Given the description of an element on the screen output the (x, y) to click on. 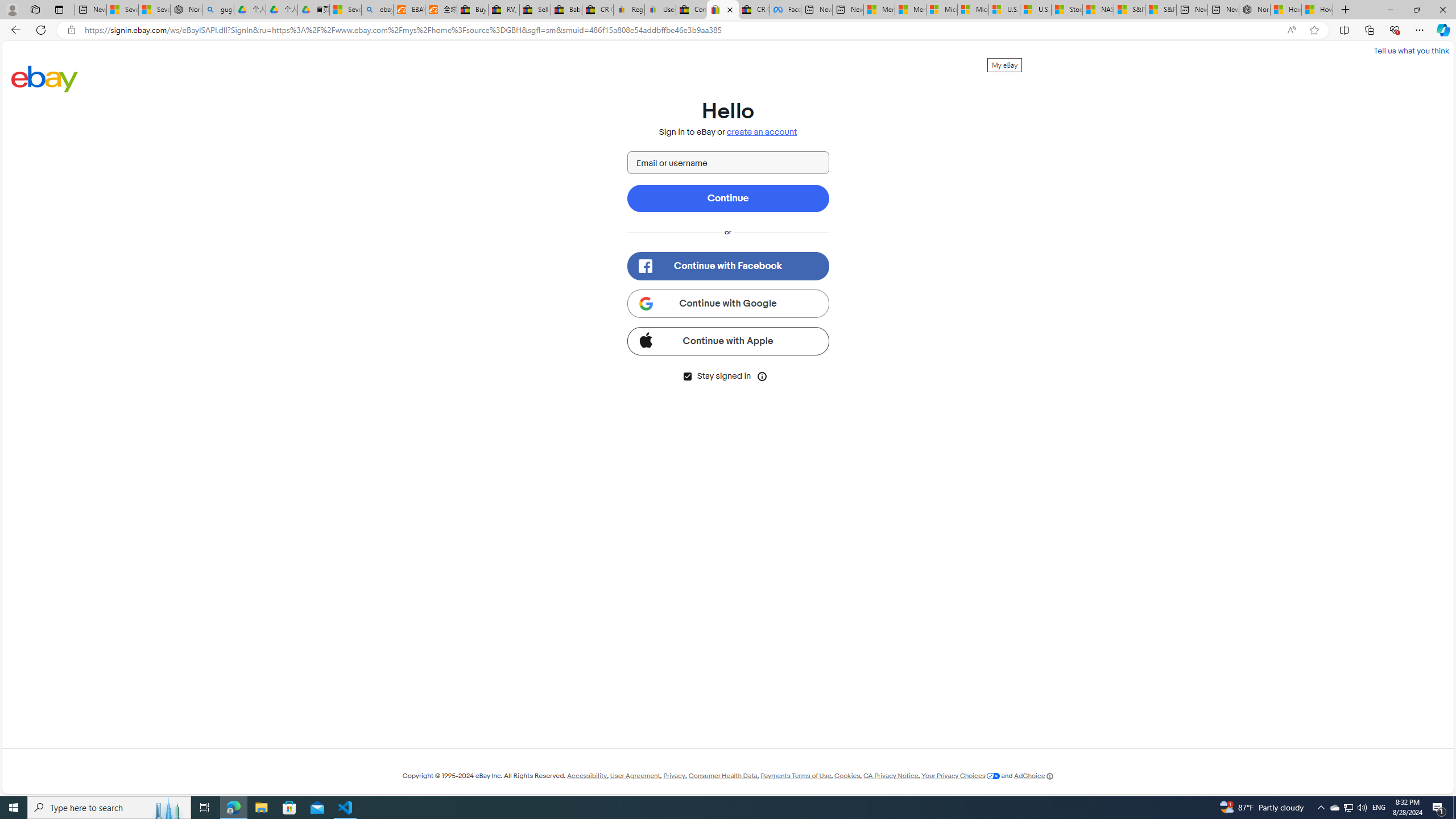
Register: Create a personal eBay account (628, 9)
Continue with Facebook (727, 266)
Accessibility (586, 775)
Consumer Health Data Privacy Policy - eBay Inc. (691, 9)
Continue with Google (727, 303)
Class: fb-icon (644, 265)
Class: icon-btn tooltip__host icon-btn--transparent (762, 375)
Continue with Apple (727, 340)
Stay signed in (687, 376)
